Given the description of an element on the screen output the (x, y) to click on. 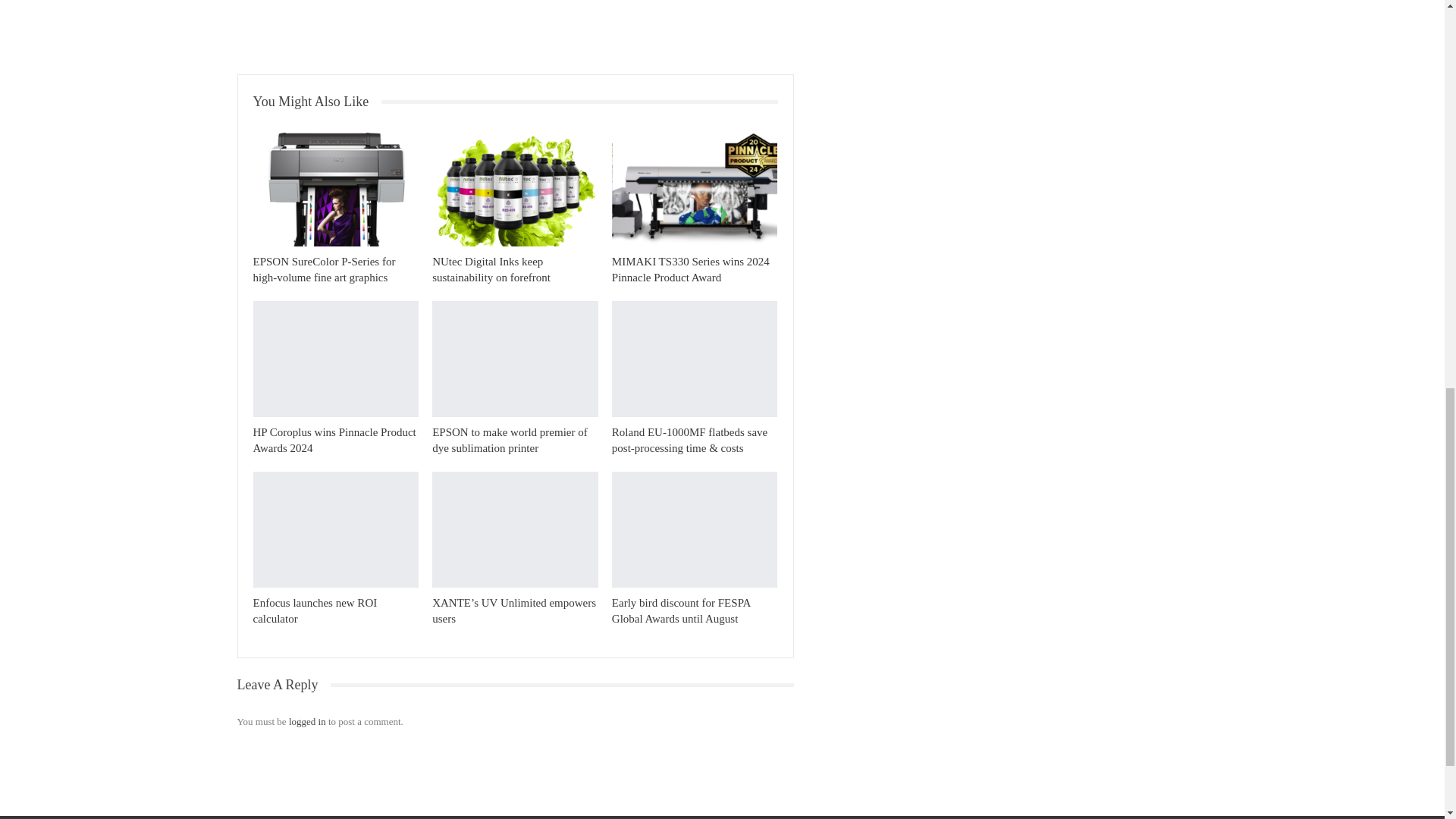
MIMAKI TS330 Series wins 2024 Pinnacle Product Award (694, 188)
NUtec Digital Inks keep sustainability on forefront (515, 188)
NUtec Digital Inks keep sustainability on forefront (491, 269)
HP Coroplus wins Pinnacle Product Awards 2024 (336, 358)
MIMAKI TS330 Series wins 2024 Pinnacle Product Award (690, 269)
HP Coroplus wins Pinnacle Product Awards 2024 (334, 439)
NUtec Digital Inks keep sustainability on forefront (491, 269)
EPSON SureColor P-Series for high-volume fine art graphics (336, 188)
Advertisement (515, 31)
EPSON SureColor P-Series for high-volume fine art graphics (324, 269)
EPSON to make world premier of dye sublimation printer (510, 439)
EPSON SureColor P-Series for high-volume fine art graphics (324, 269)
MIMAKI TS330 Series wins 2024 Pinnacle Product Award (690, 269)
EPSON to make world premier of dye sublimation printer (515, 358)
